Given the description of an element on the screen output the (x, y) to click on. 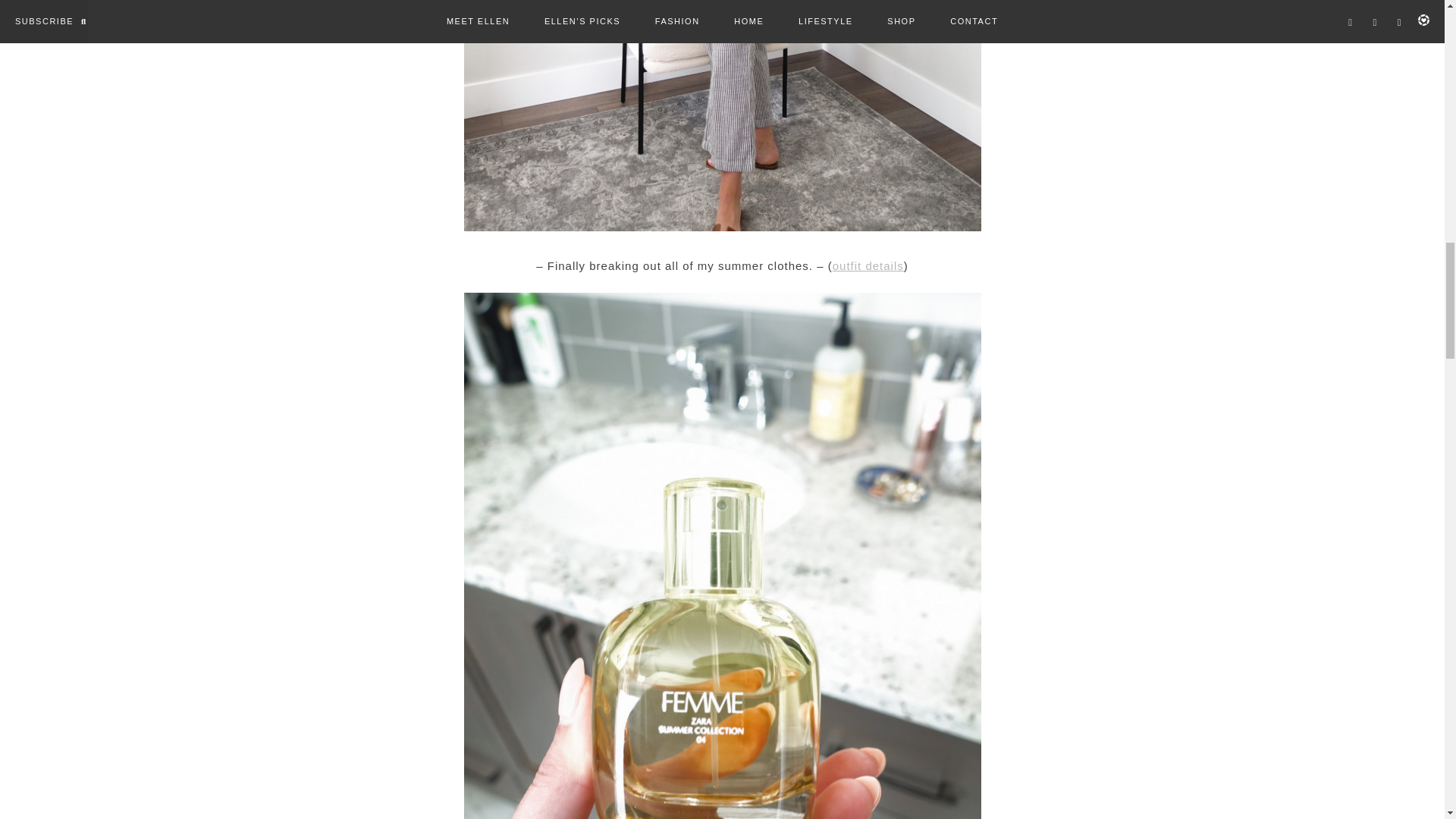
outfit details (868, 265)
